Given the description of an element on the screen output the (x, y) to click on. 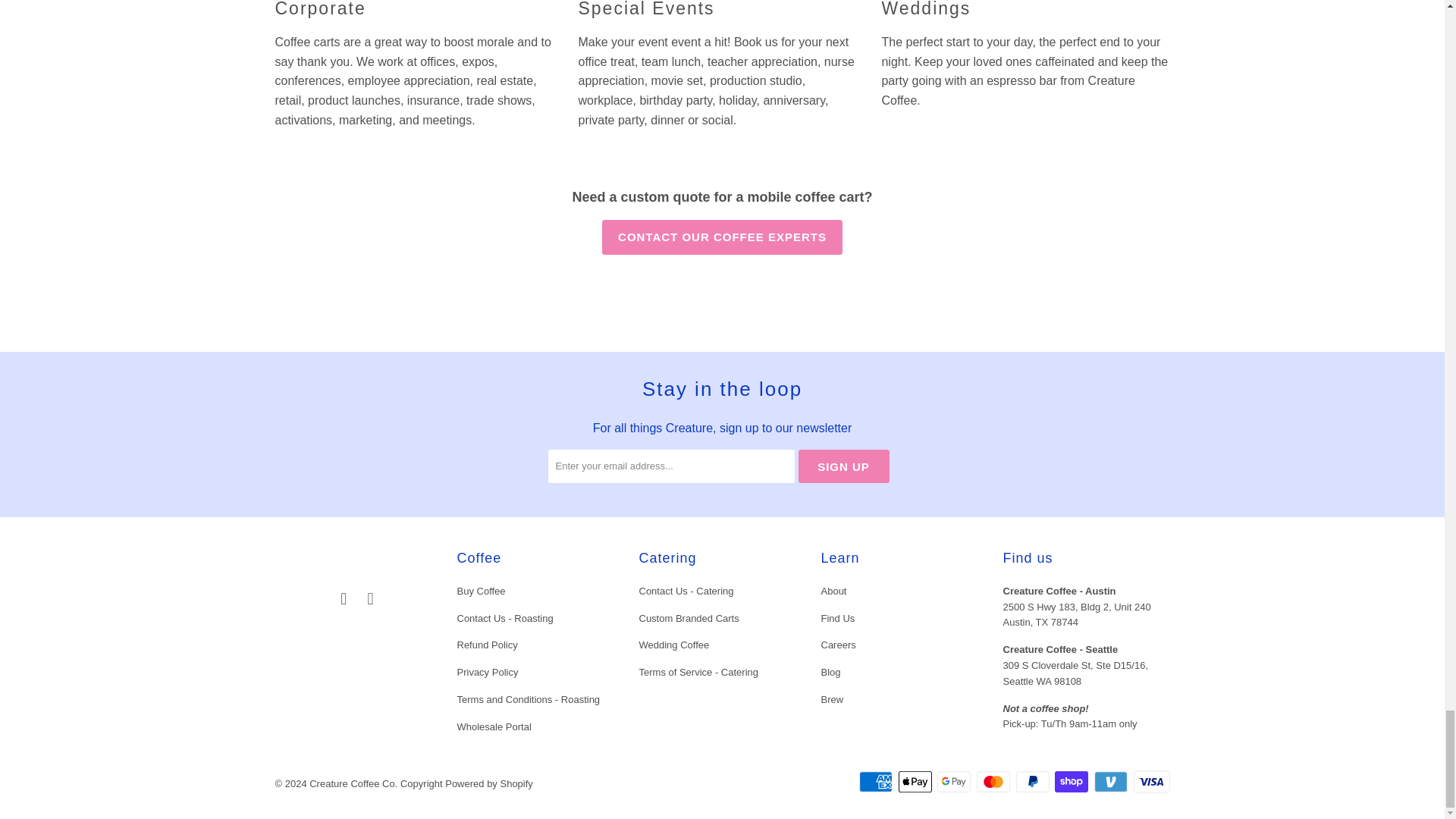
Visa (1150, 781)
Venmo (1112, 781)
American Express (877, 781)
Shop Pay (1072, 781)
Sign Up (842, 466)
Google Pay (955, 781)
Apple Pay (916, 781)
Mastercard (994, 781)
PayPal (1034, 781)
Creature Coffee Co on Instagram (370, 598)
Creature Coffee Co on Facebook (344, 598)
